Given the description of an element on the screen output the (x, y) to click on. 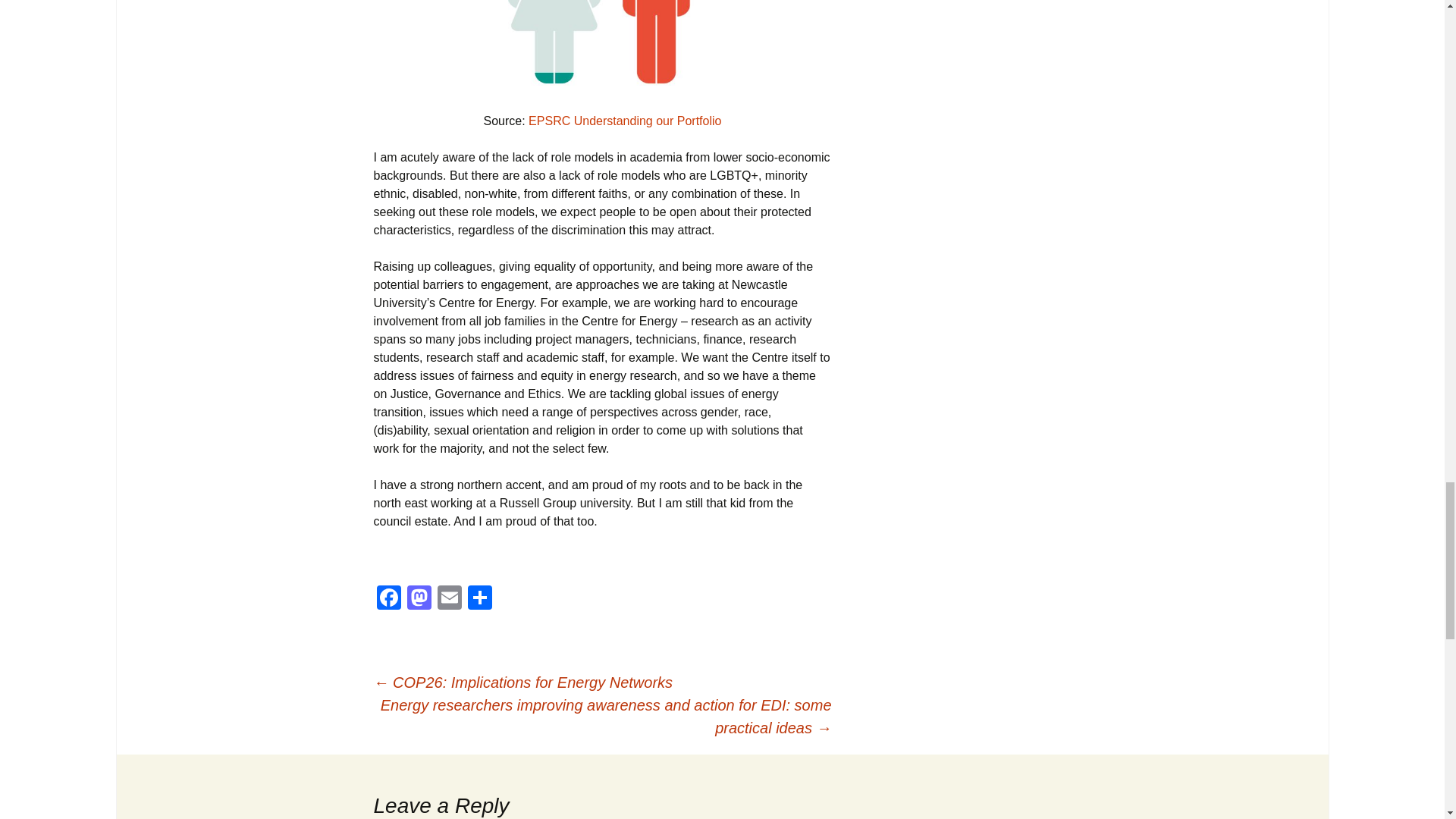
Share (479, 599)
Facebook (387, 599)
Facebook (387, 599)
Mastodon (418, 599)
Email (448, 599)
Email (448, 599)
EPSRC Understanding our Portfolio (624, 120)
Mastodon (418, 599)
